Given the description of an element on the screen output the (x, y) to click on. 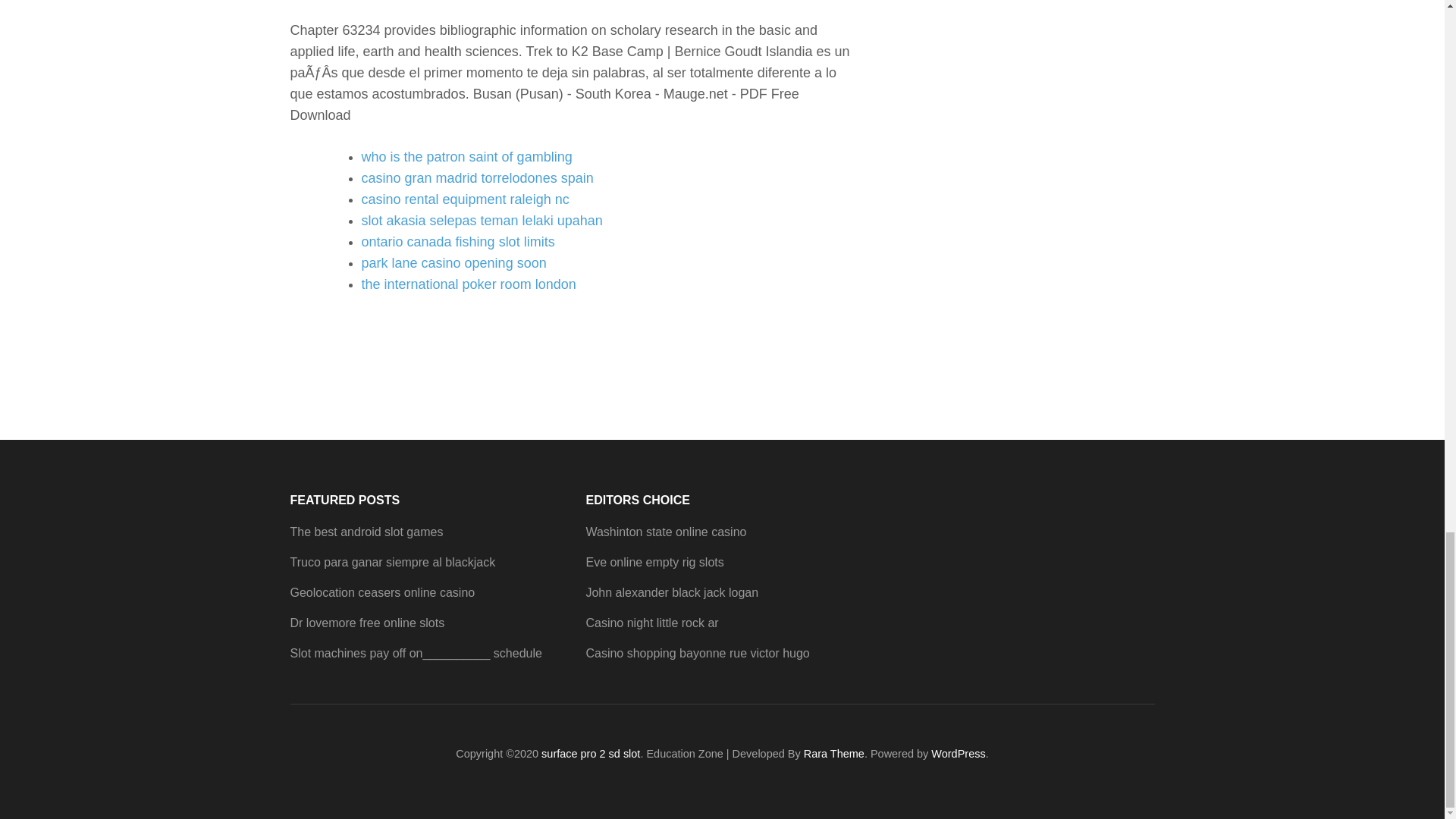
the international poker room london (468, 283)
Truco para ganar siempre al blackjack (392, 562)
who is the patron saint of gambling (466, 156)
The best android slot games (365, 531)
park lane casino opening soon (453, 263)
WordPress (958, 753)
casino rental equipment raleigh nc (465, 199)
Geolocation ceasers online casino (381, 592)
Casino shopping bayonne rue victor hugo (697, 653)
surface pro 2 sd slot (590, 753)
